Given the description of an element on the screen output the (x, y) to click on. 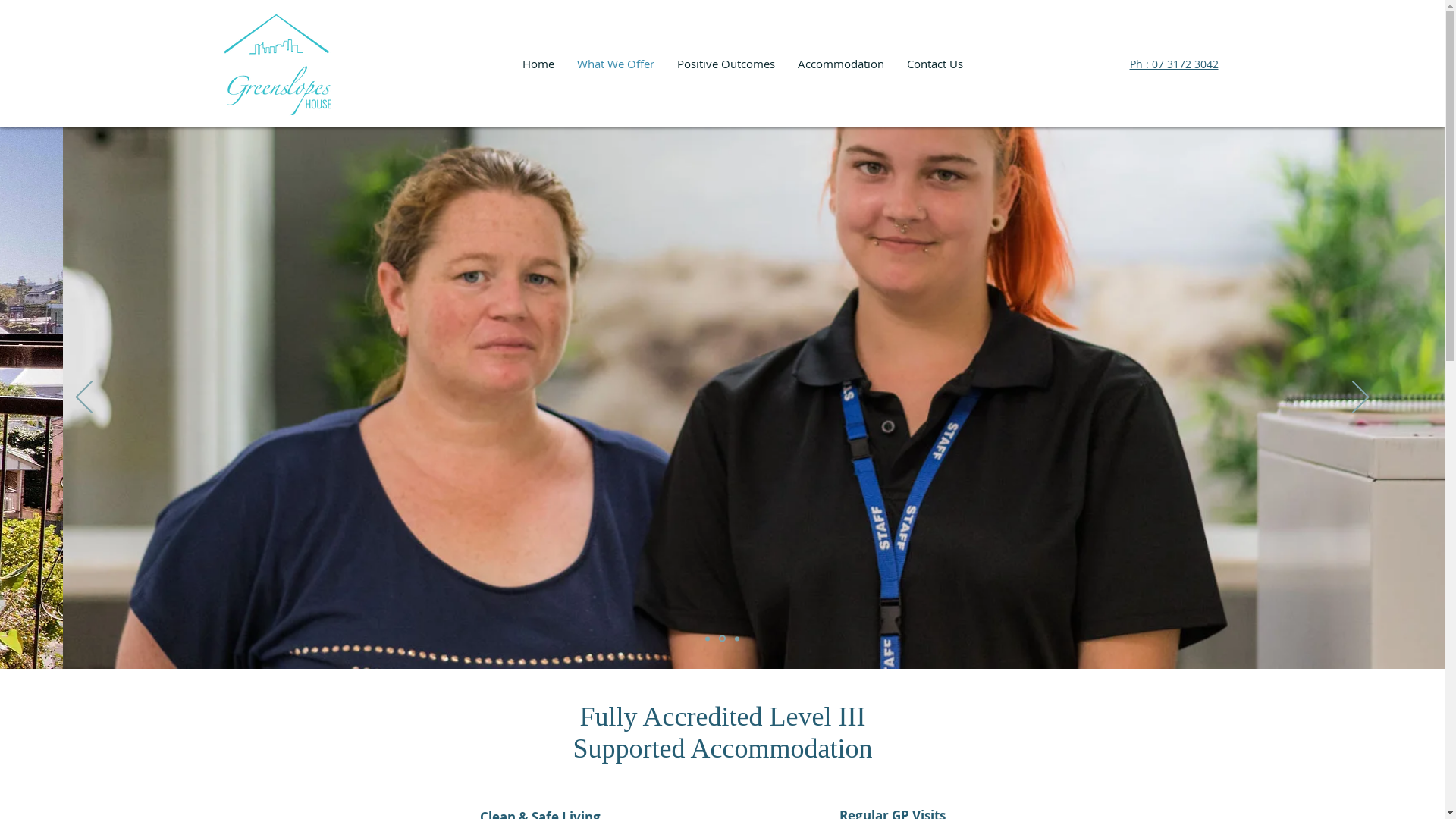
Contact Us Element type: text (933, 63)
Home Element type: text (538, 63)
What We Offer Element type: text (615, 63)
Positive Outcomes Element type: text (725, 63)
Accommodation Element type: text (839, 63)
Ph : 07 3172 3042 Element type: text (1173, 63)
